Given the description of an element on the screen output the (x, y) to click on. 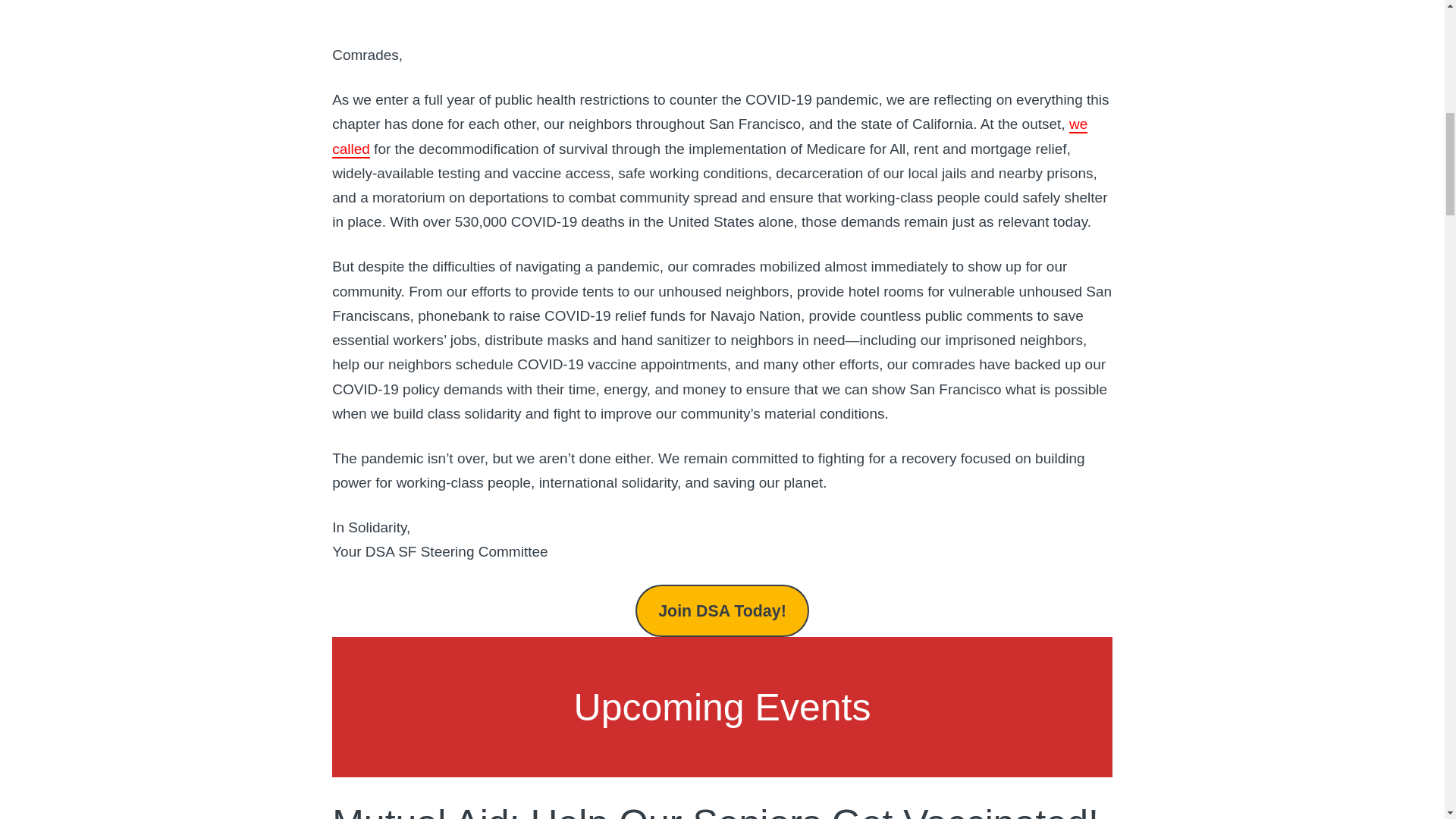
we called (709, 137)
Join DSA Today! (721, 610)
